Given the description of an element on the screen output the (x, y) to click on. 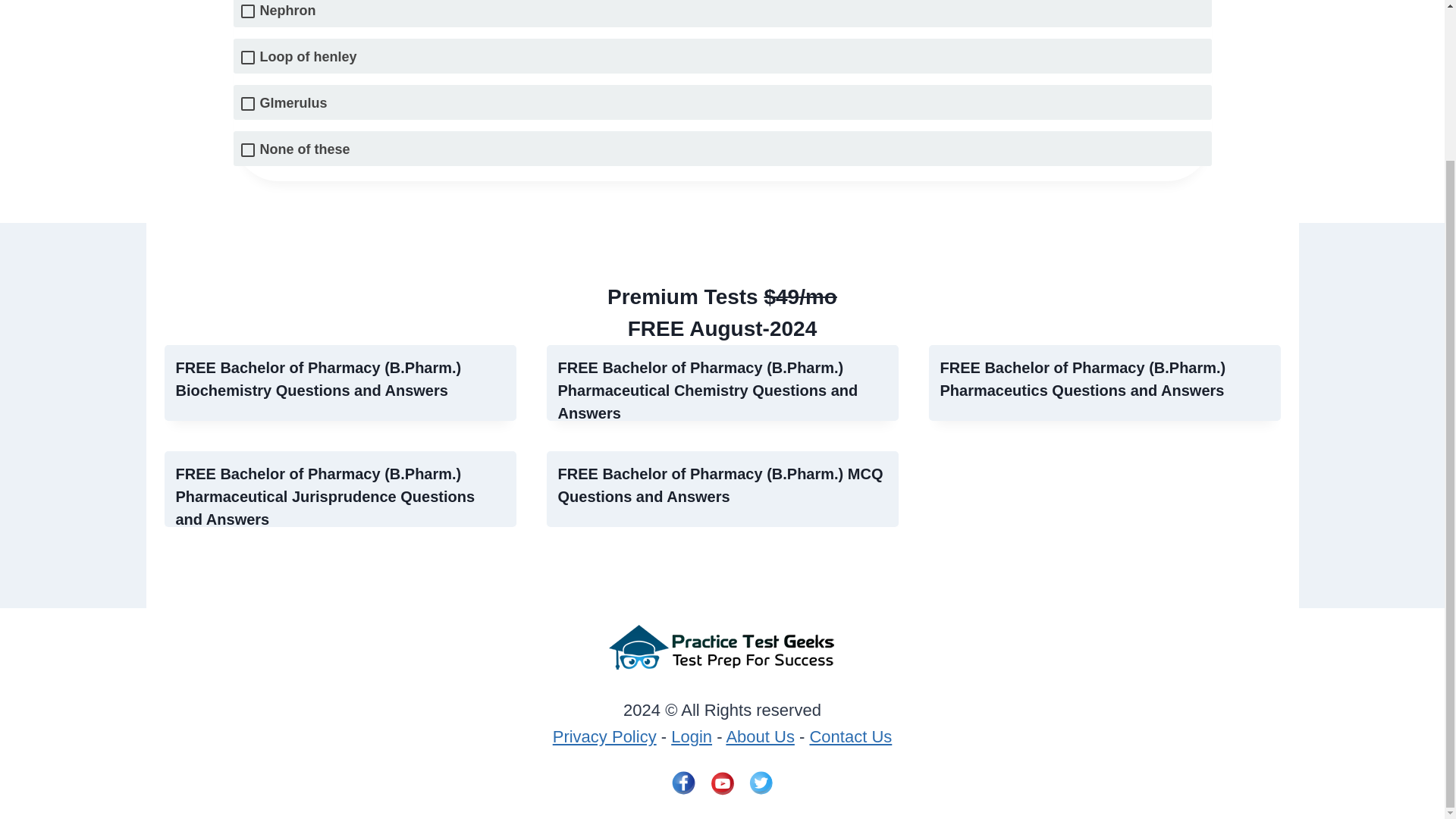
About Us (759, 736)
Privacy Policy (604, 736)
Login (691, 736)
Contact Us (850, 736)
